Given the description of an element on the screen output the (x, y) to click on. 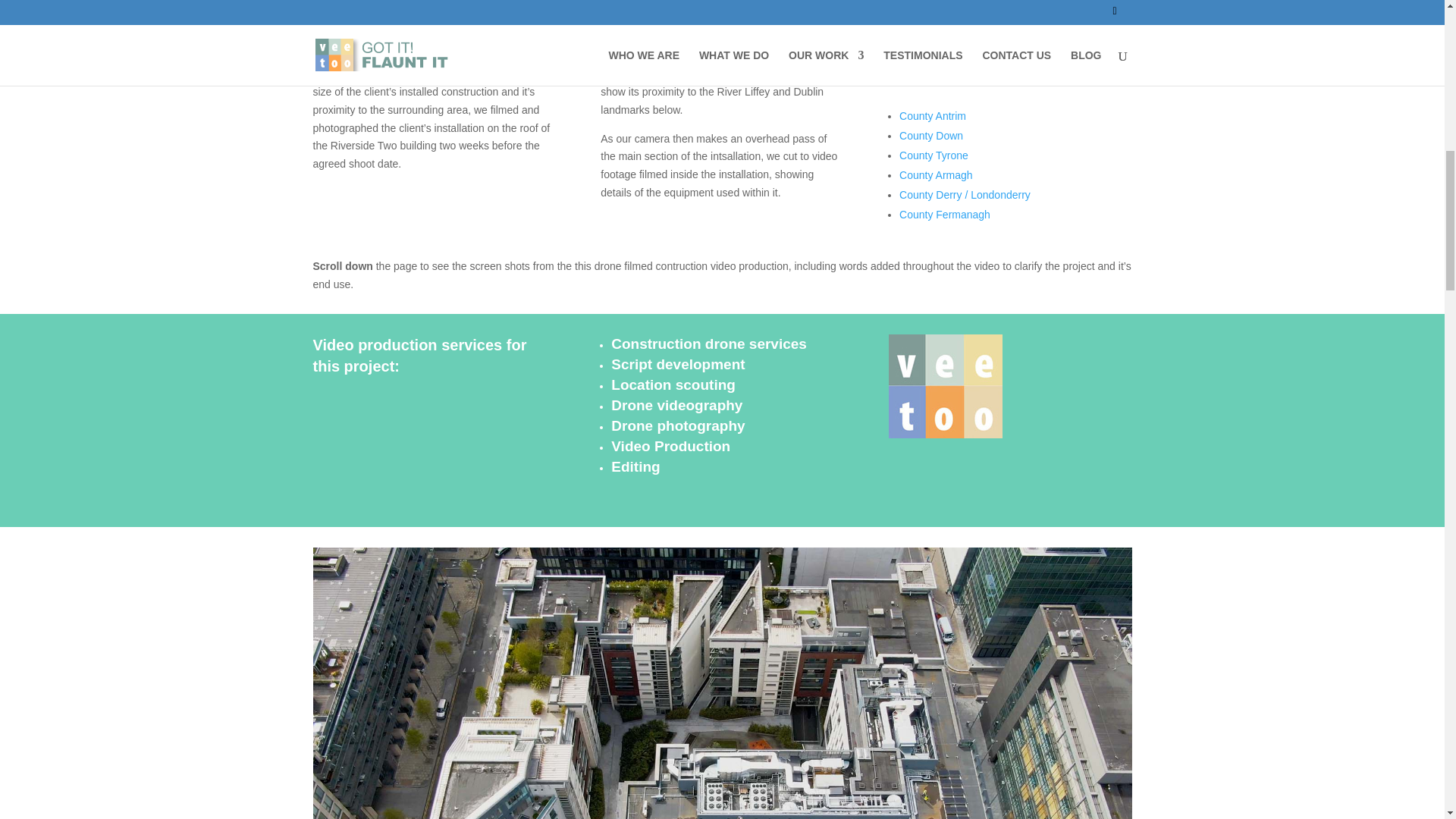
NORTHERN IRELAND (942, 67)
Ireland (504, 44)
River Liffey (424, 36)
County Down (930, 135)
County Antrim (932, 115)
